Given the description of an element on the screen output the (x, y) to click on. 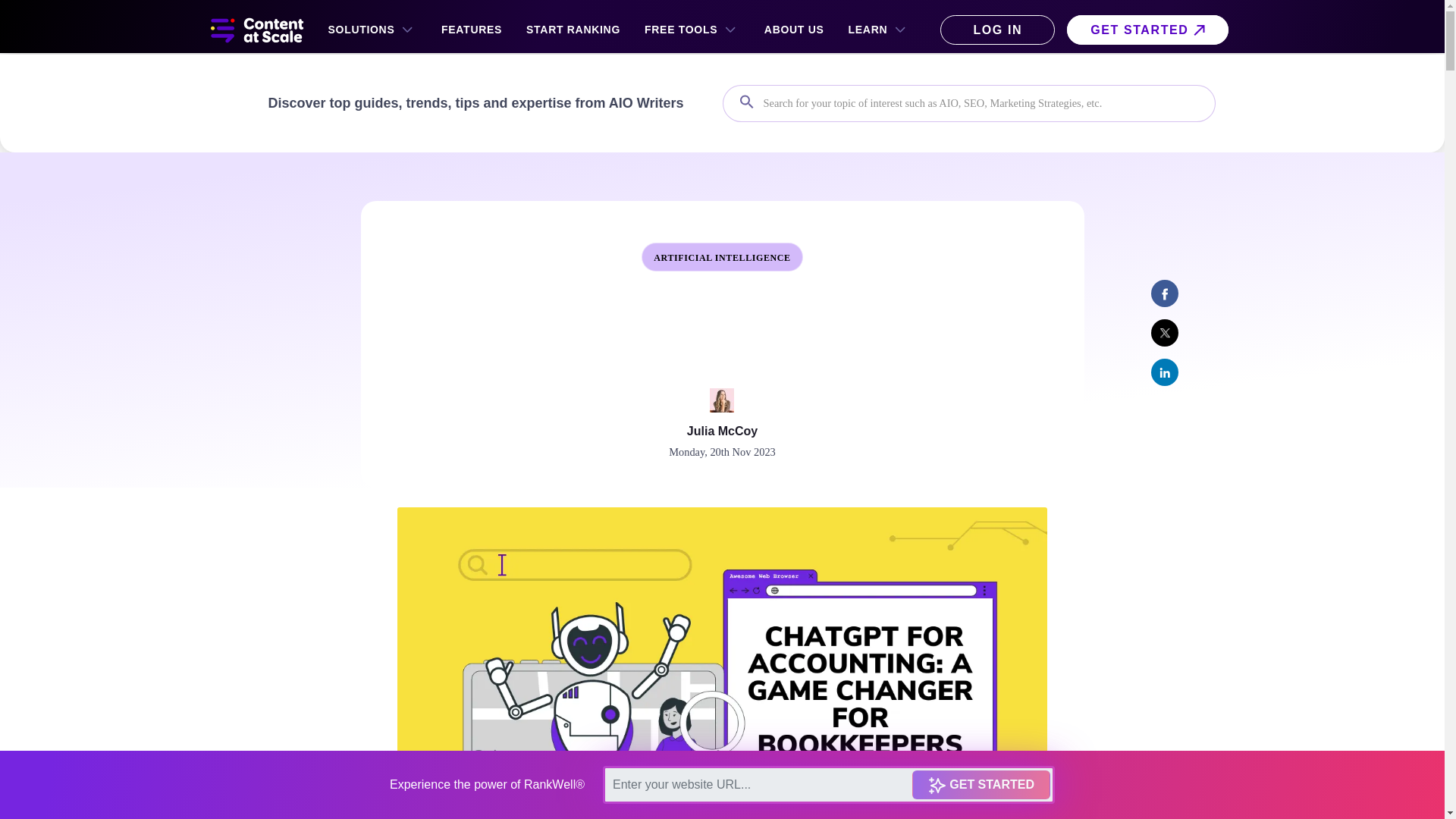
LOG IN (997, 30)
START RANKING (572, 29)
LEARN (879, 29)
FEATURES (471, 29)
GET STARTED (1147, 30)
FREE TOOLS (692, 29)
ABOUT US (793, 29)
SOLUTIONS (372, 29)
ARTIFICIAL INTELLIGENCE (721, 257)
